Given the description of an element on the screen output the (x, y) to click on. 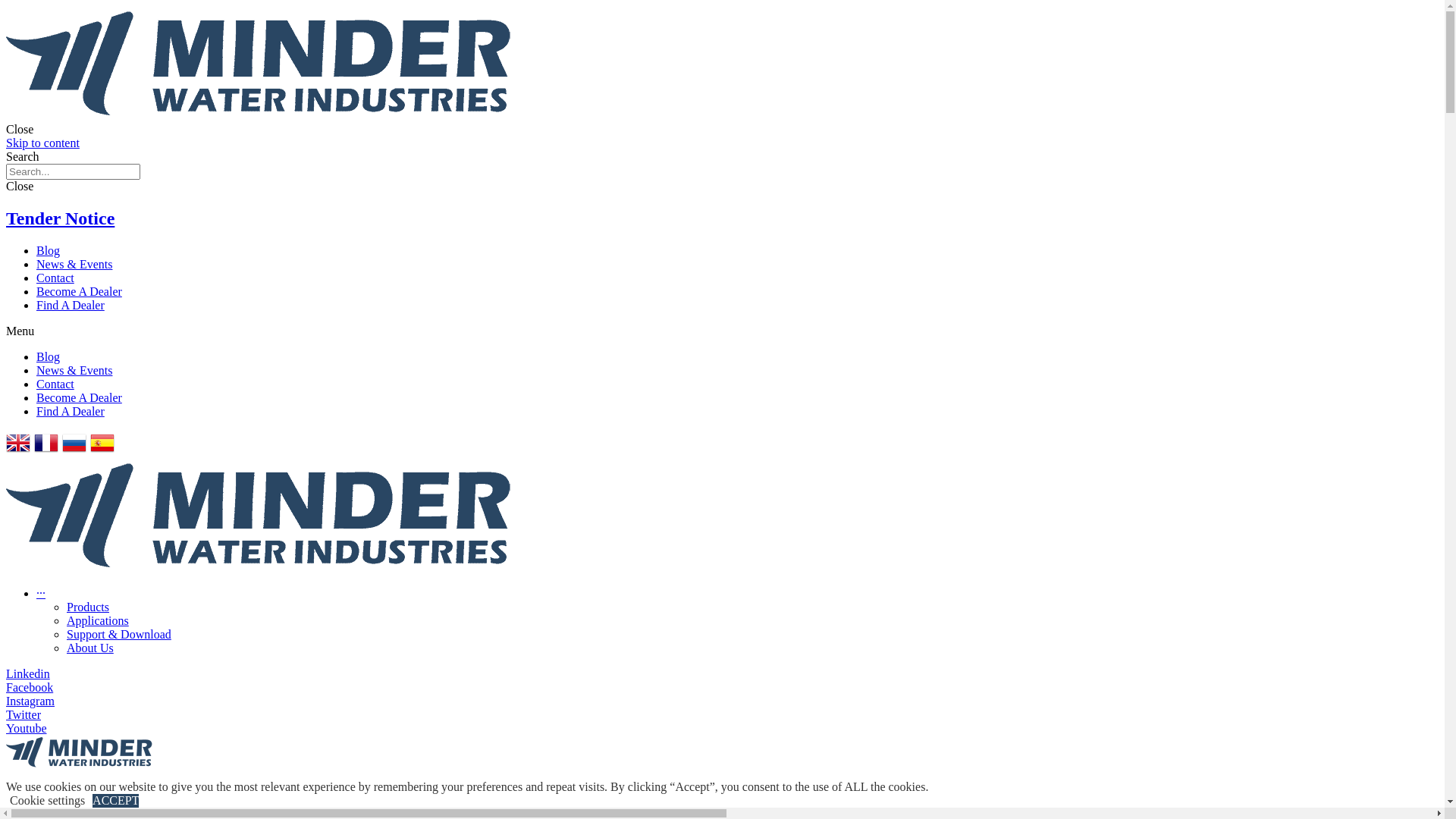
Support & Download Element type: text (752, 634)
Find A Dealer Element type: text (70, 410)
French Element type: hover (48, 450)
minder-logo Element type: hover (81, 751)
Contact Element type: text (55, 277)
Linkedin Element type: text (28, 673)
Become A Dealer Element type: text (79, 291)
Contact Element type: text (55, 383)
News & Events Element type: text (74, 370)
Instagram Element type: text (30, 700)
English Element type: hover (20, 450)
Russian Element type: hover (76, 450)
Tender Notice Element type: text (60, 218)
Become A Dealer Element type: text (79, 397)
Applications Element type: text (752, 620)
Spanish Element type: hover (102, 450)
Twitter Element type: text (23, 714)
Blog Element type: text (47, 356)
Products Element type: text (752, 607)
Youtube Element type: text (26, 727)
About Us Element type: text (752, 648)
News & Events Element type: text (74, 263)
Skip to content Element type: text (42, 142)
Search Element type: hover (73, 171)
Cookie settings Element type: text (46, 799)
Facebook Element type: text (29, 686)
ACCEPT Element type: text (115, 800)
Blog Element type: text (47, 250)
Find A Dealer Element type: text (70, 304)
